Given the description of an element on the screen output the (x, y) to click on. 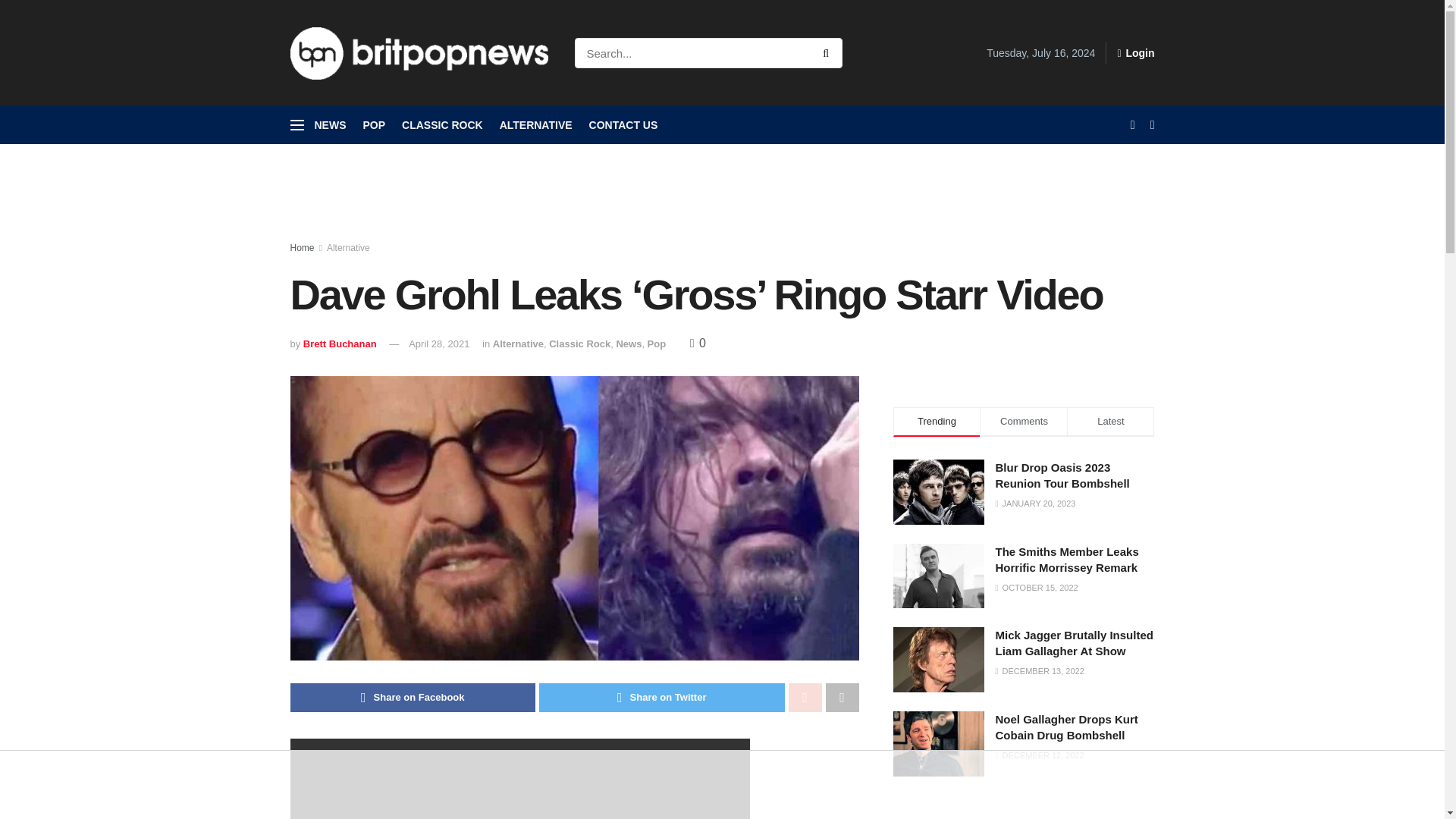
Pop (656, 343)
Alternative (518, 343)
POP (373, 125)
Share on Facebook (412, 697)
April 28, 2021 (438, 343)
Brett Buchanan (339, 343)
News (628, 343)
CLASSIC ROCK (442, 125)
ALTERNATIVE (535, 125)
Alternative (347, 247)
NEWS (330, 125)
0 (698, 342)
3rd party ad content (721, 785)
CONTACT US (623, 125)
